Given the description of an element on the screen output the (x, y) to click on. 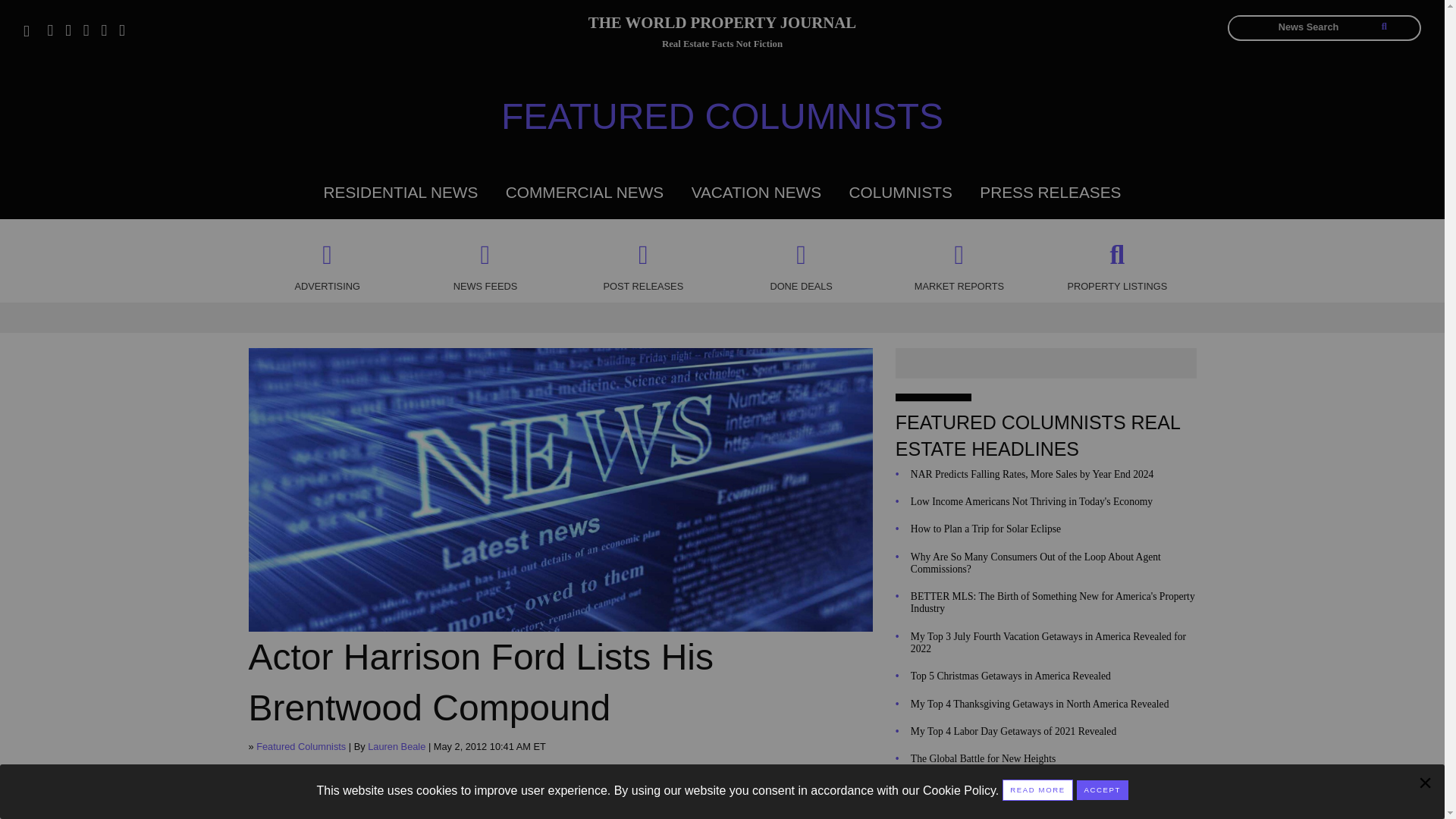
THE WORLD PROPERTY JOURNAL (721, 25)
RESIDENTIAL NEWS (401, 191)
COMMERCIAL NEWS (584, 191)
PRESS RELEASES (1050, 191)
COLUMNISTS (900, 191)
VACATION NEWS (756, 191)
